Given the description of an element on the screen output the (x, y) to click on. 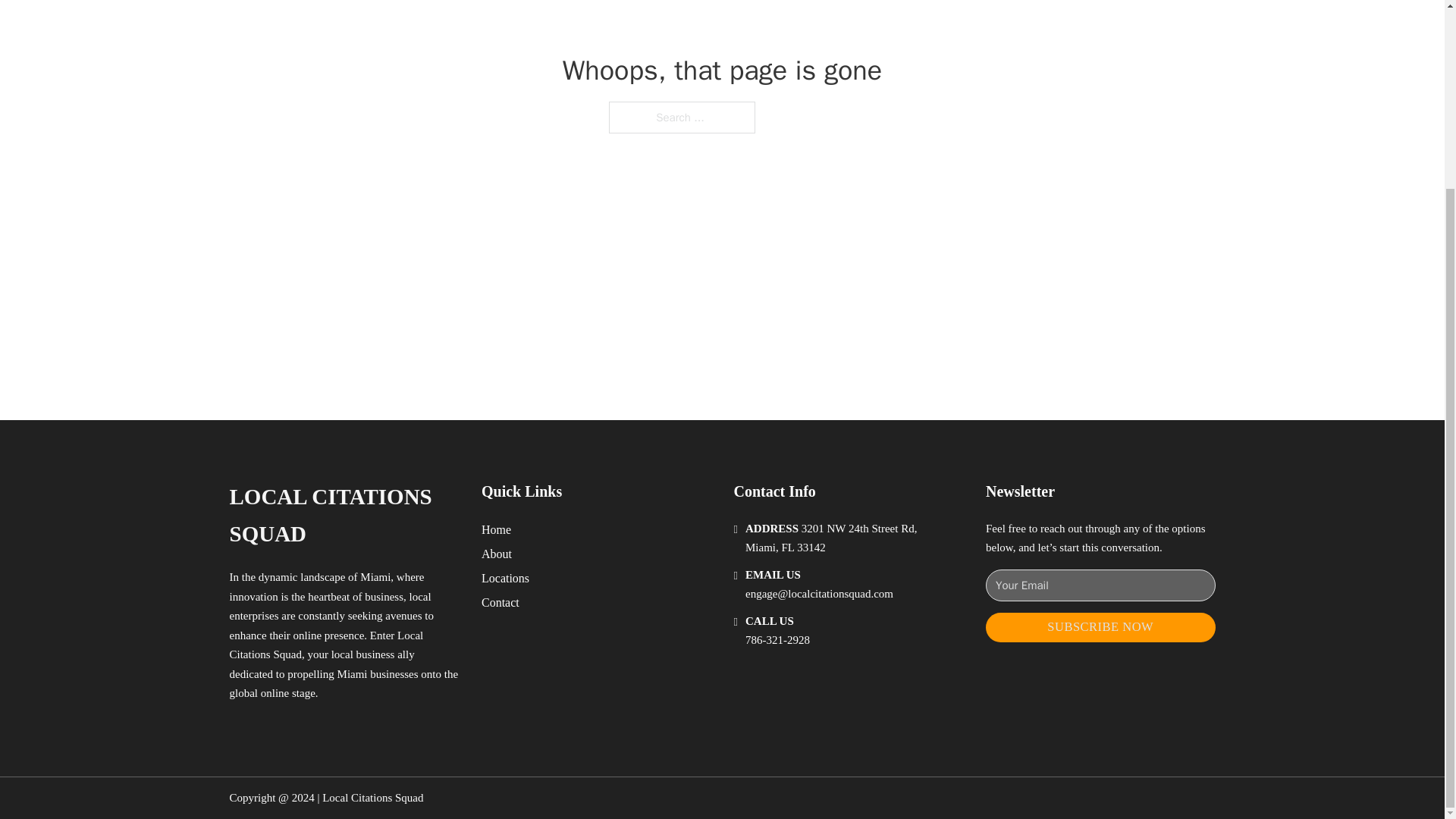
Home (496, 529)
SUBSCRIBE NOW (1100, 627)
786-321-2928 (777, 639)
Contact (500, 602)
Locations (505, 578)
LOCAL CITATIONS SQUAD (343, 515)
About (496, 553)
